Given the description of an element on the screen output the (x, y) to click on. 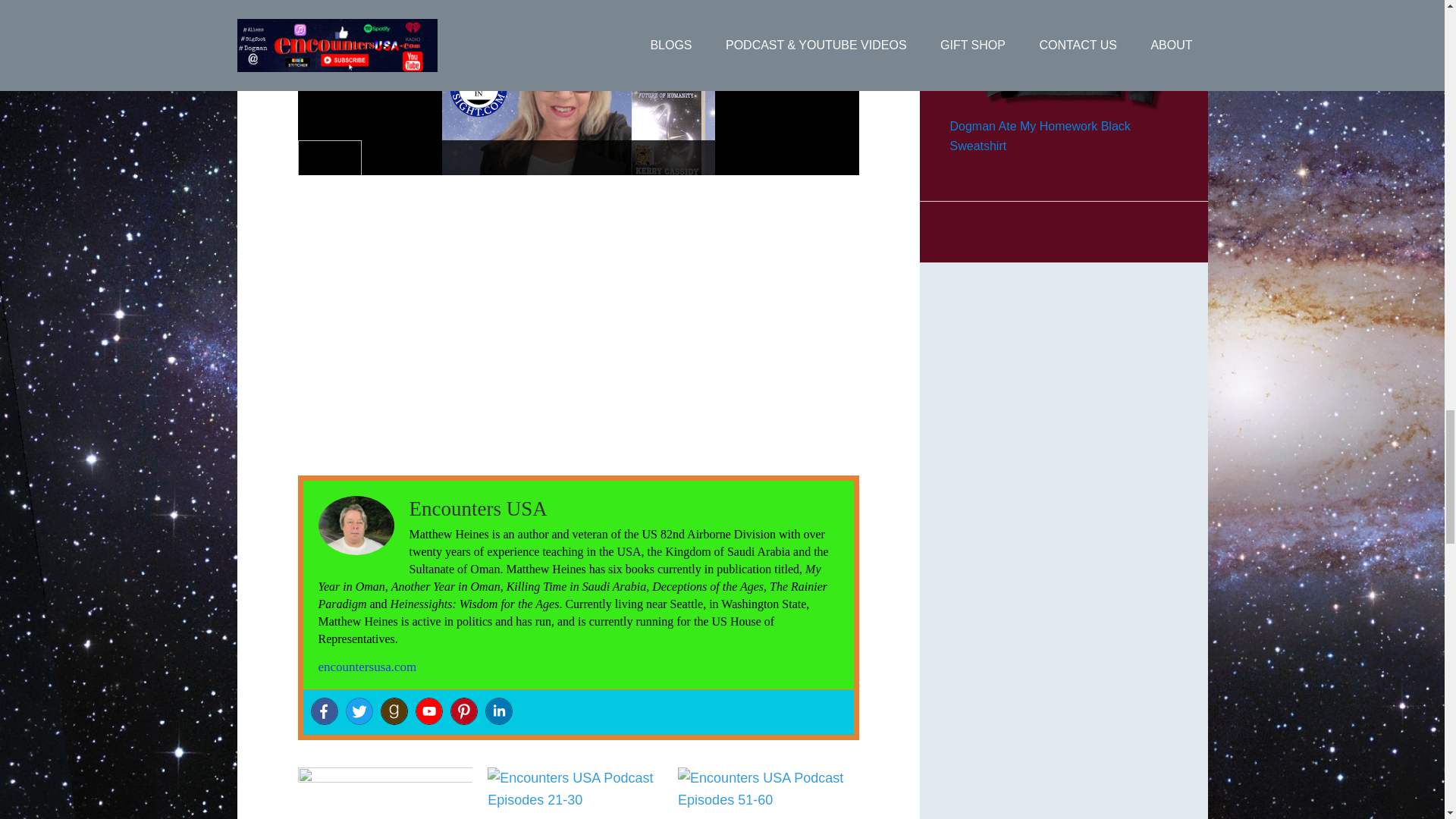
Goodreads (393, 710)
Linkedin (498, 710)
Youtube (428, 710)
Pinterest (463, 710)
Encounters USA Podcast Episodes 51-60 (765, 793)
Twitter (359, 710)
Facebook (324, 710)
